Given the description of an element on the screen output the (x, y) to click on. 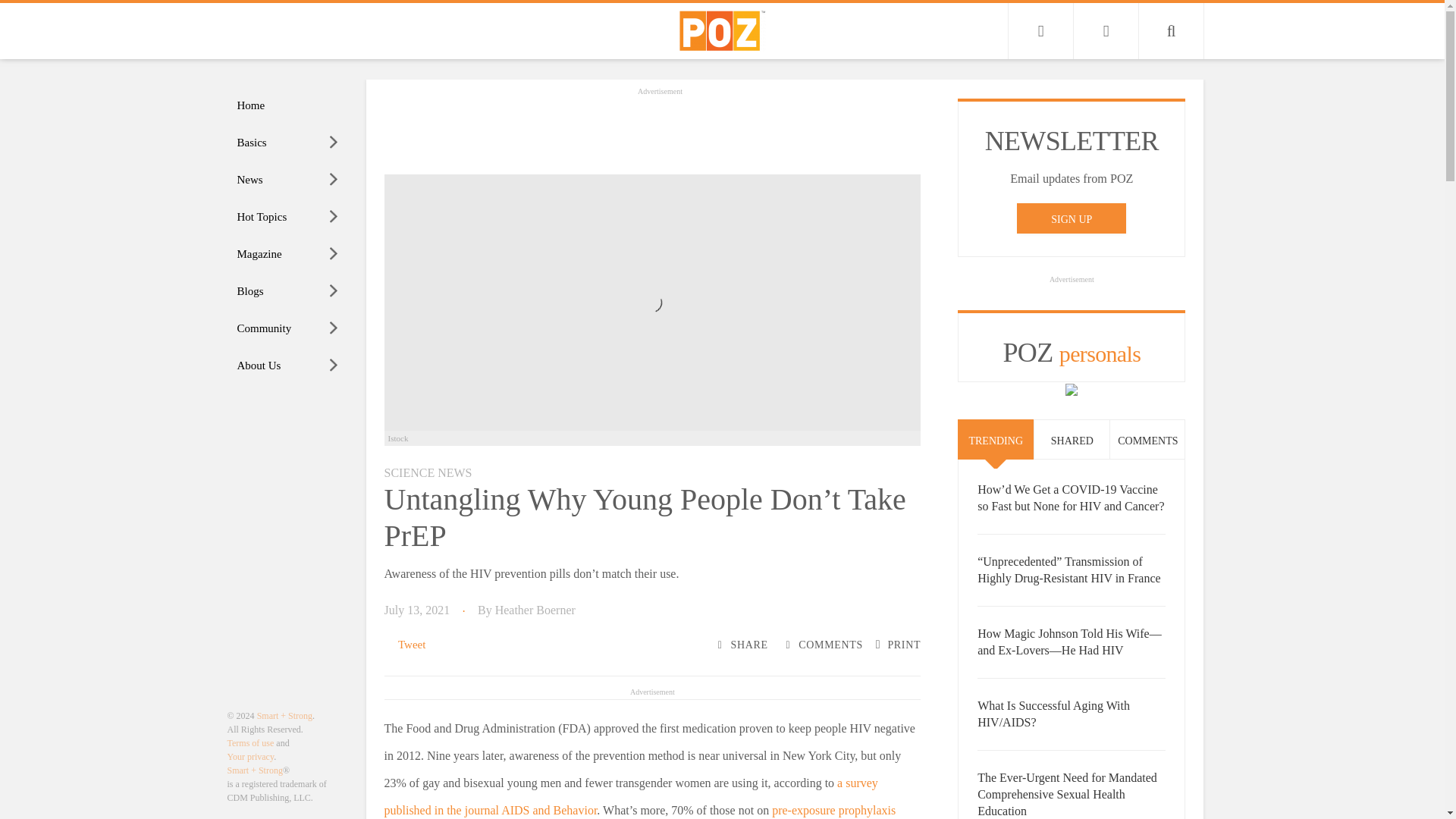
News (288, 180)
Home (288, 105)
Basics (288, 142)
